Given the description of an element on the screen output the (x, y) to click on. 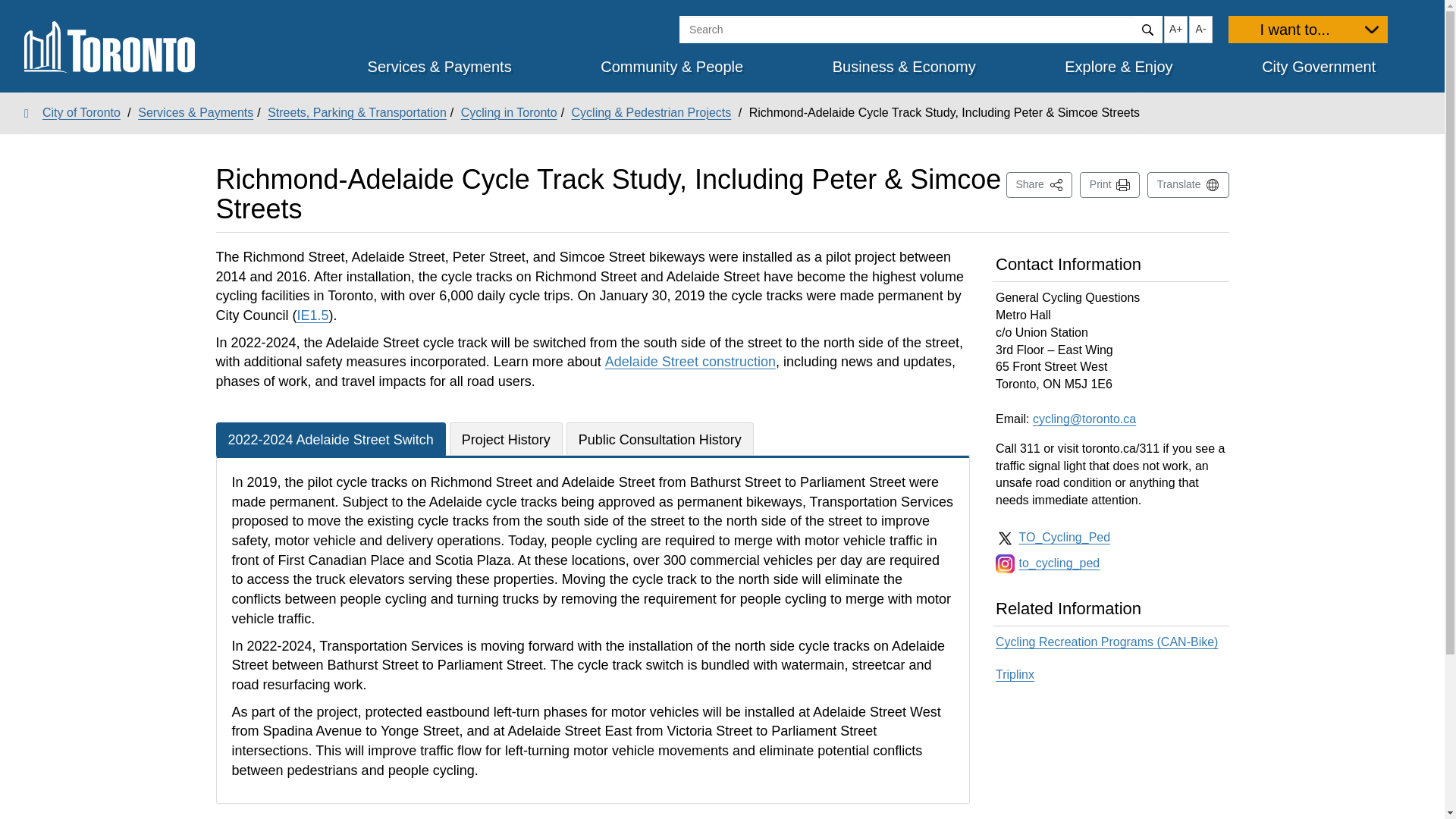
Increase text size (1175, 29)
I want to... (1307, 29)
Skip to content (11, 11)
